Given the description of an element on the screen output the (x, y) to click on. 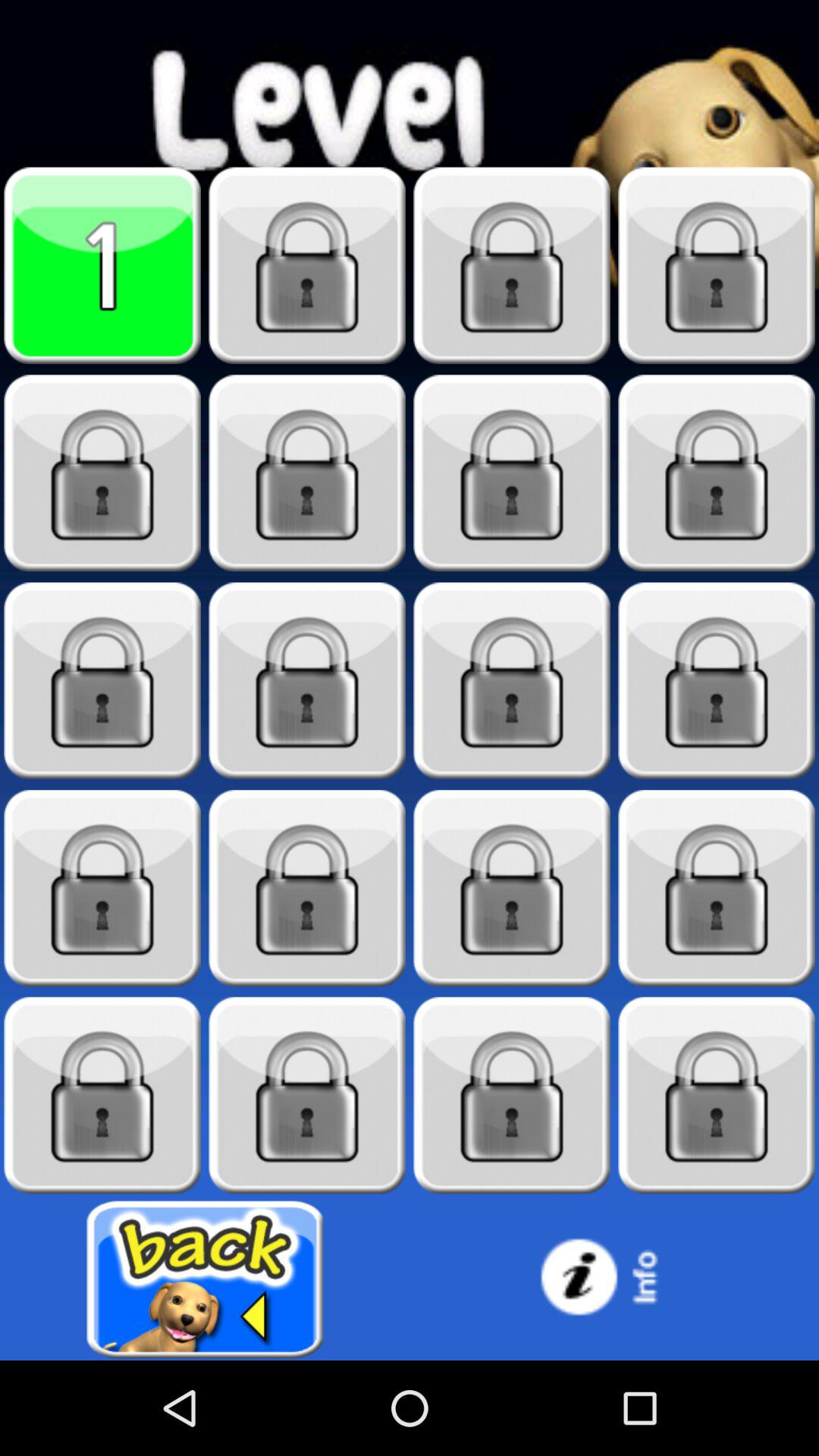
locked level (102, 473)
